Given the description of an element on the screen output the (x, y) to click on. 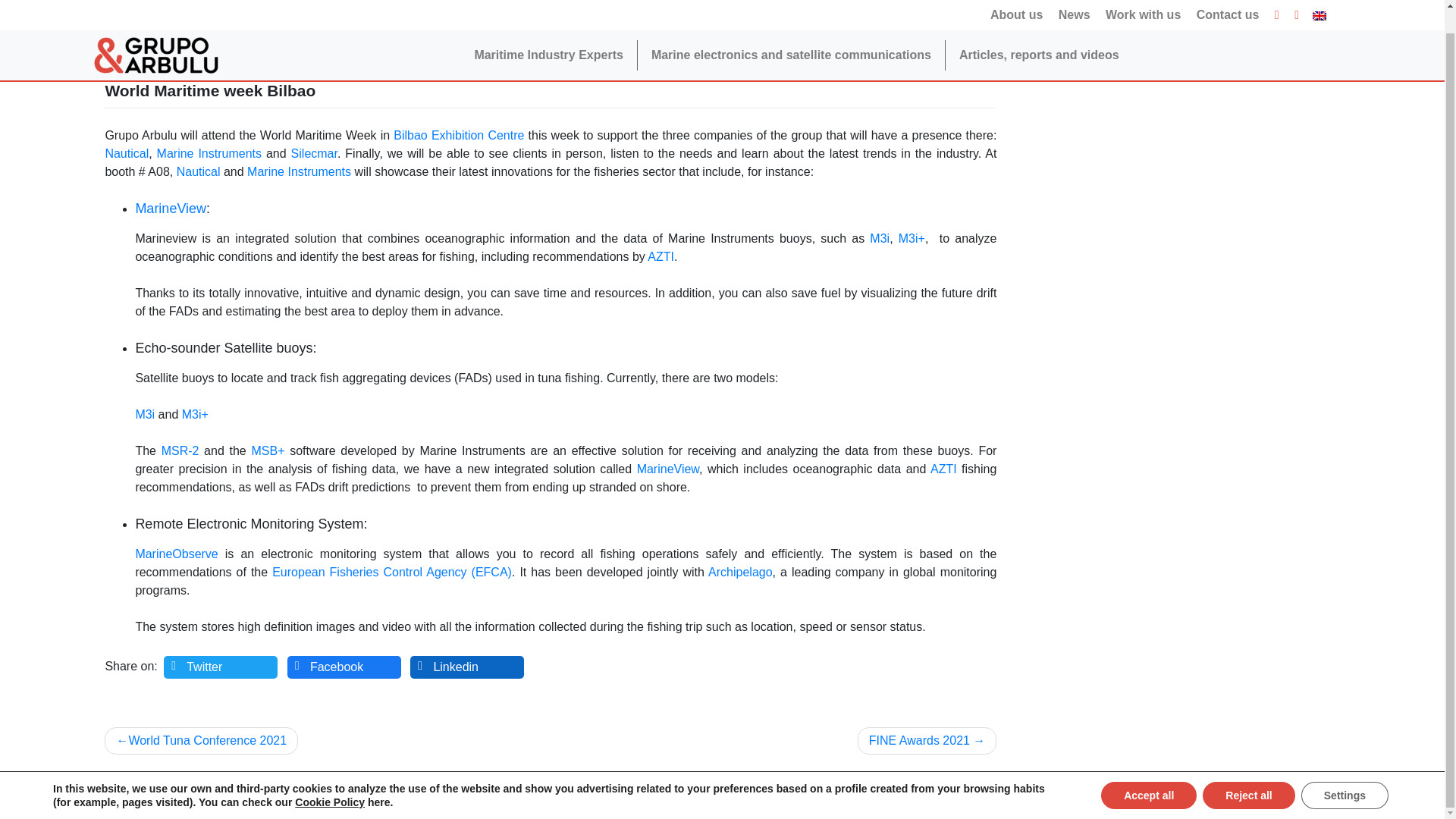
About us (1016, 3)
Silecmar (314, 153)
Nautical (126, 153)
AZTI (660, 256)
Marine electronics and satellite communications (791, 31)
M3i (144, 413)
Contact us (1228, 3)
Marine Instruments (209, 153)
Articles, reports and videos (1039, 31)
About us (1016, 3)
